Given the description of an element on the screen output the (x, y) to click on. 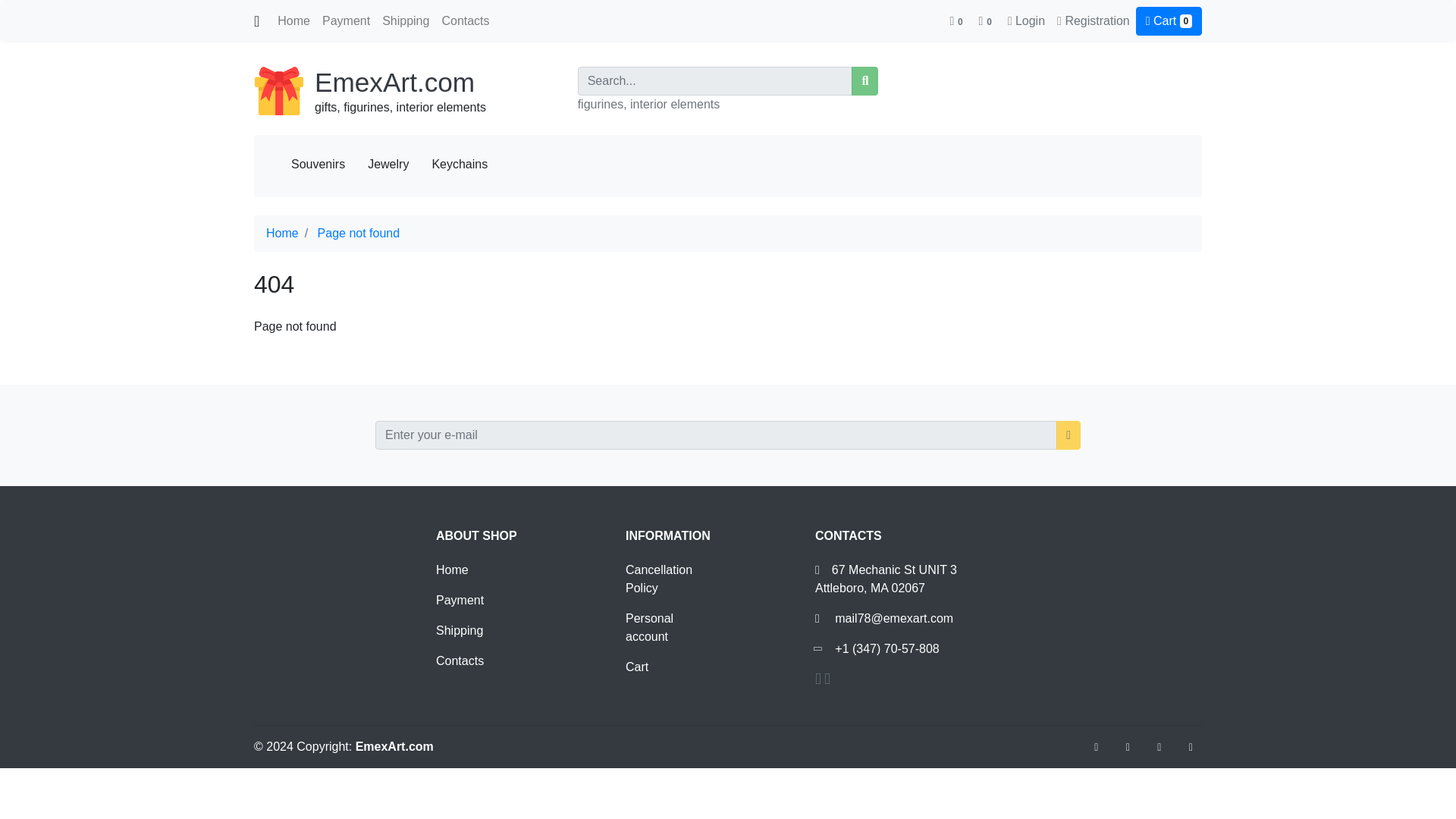
Cart 0 (1168, 21)
0 (957, 20)
Contacts (459, 660)
Home (292, 20)
Cart (636, 666)
Souvenirs (318, 164)
Contacts (465, 20)
Shipping (459, 630)
Home (282, 232)
Personal account (649, 626)
Jewelry (388, 164)
Keychains (459, 164)
Shipping (405, 20)
Registration (1096, 20)
0 (986, 20)
